Given the description of an element on the screen output the (x, y) to click on. 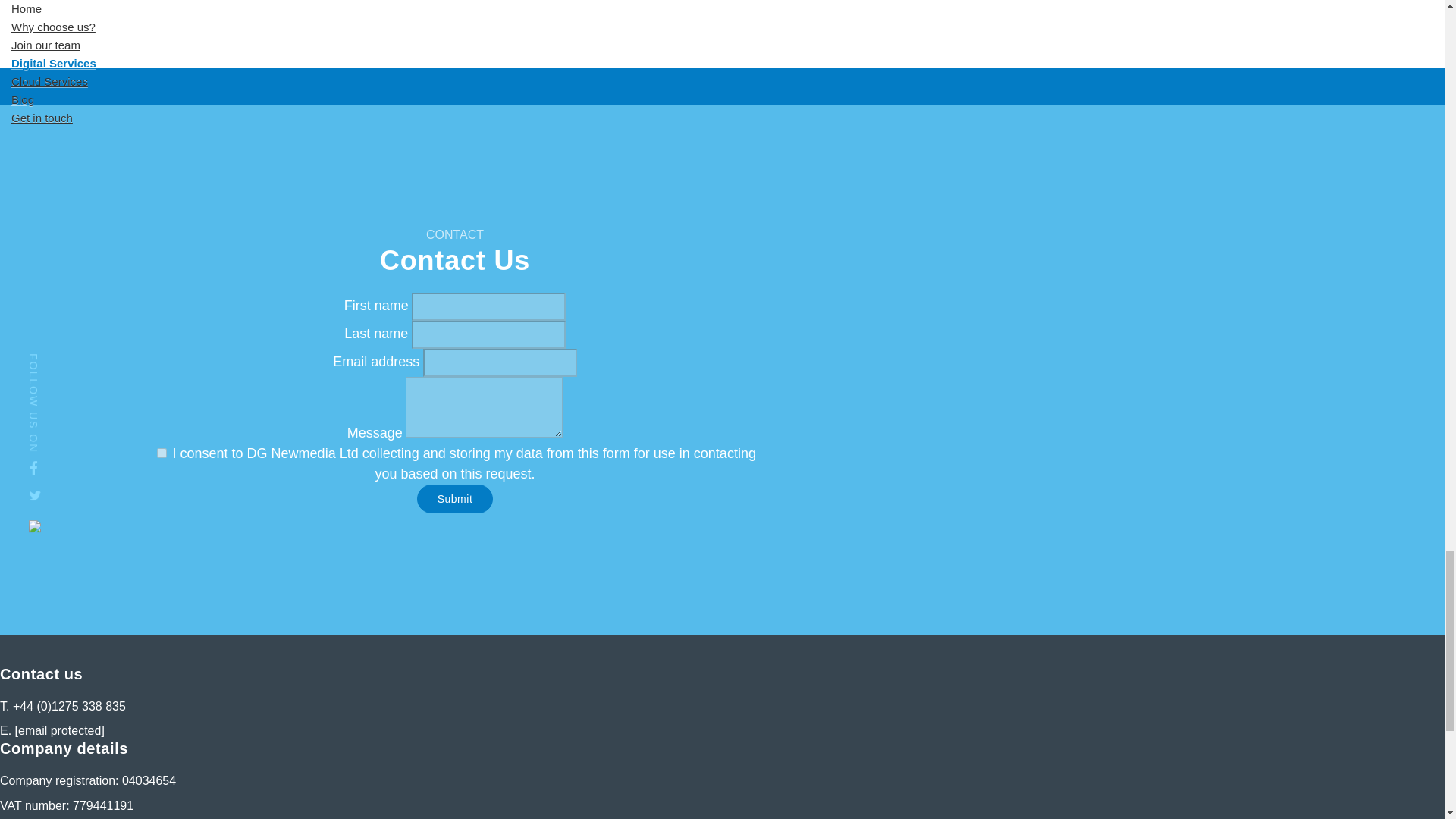
true (162, 452)
Submit (454, 498)
